Given the description of an element on the screen output the (x, y) to click on. 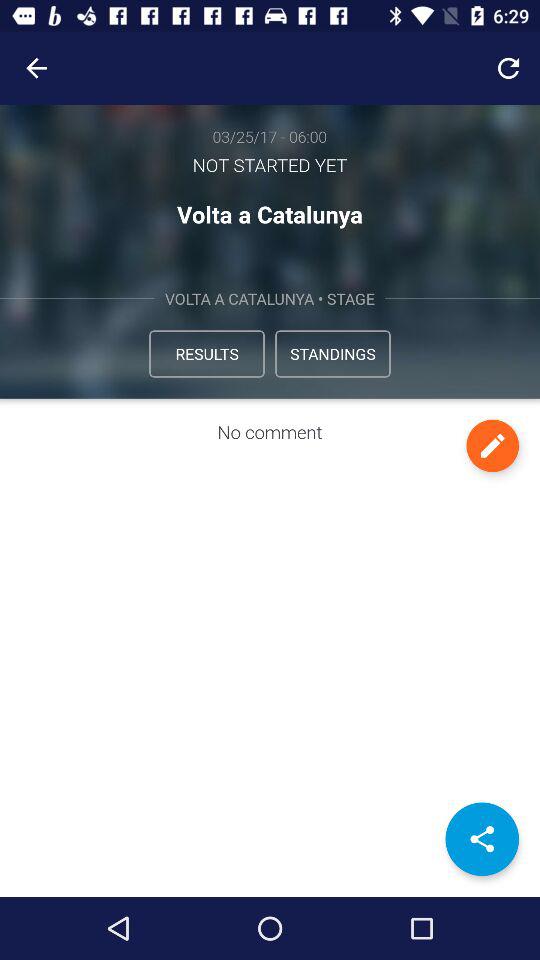
turn on the item next to the results icon (332, 353)
